Given the description of an element on the screen output the (x, y) to click on. 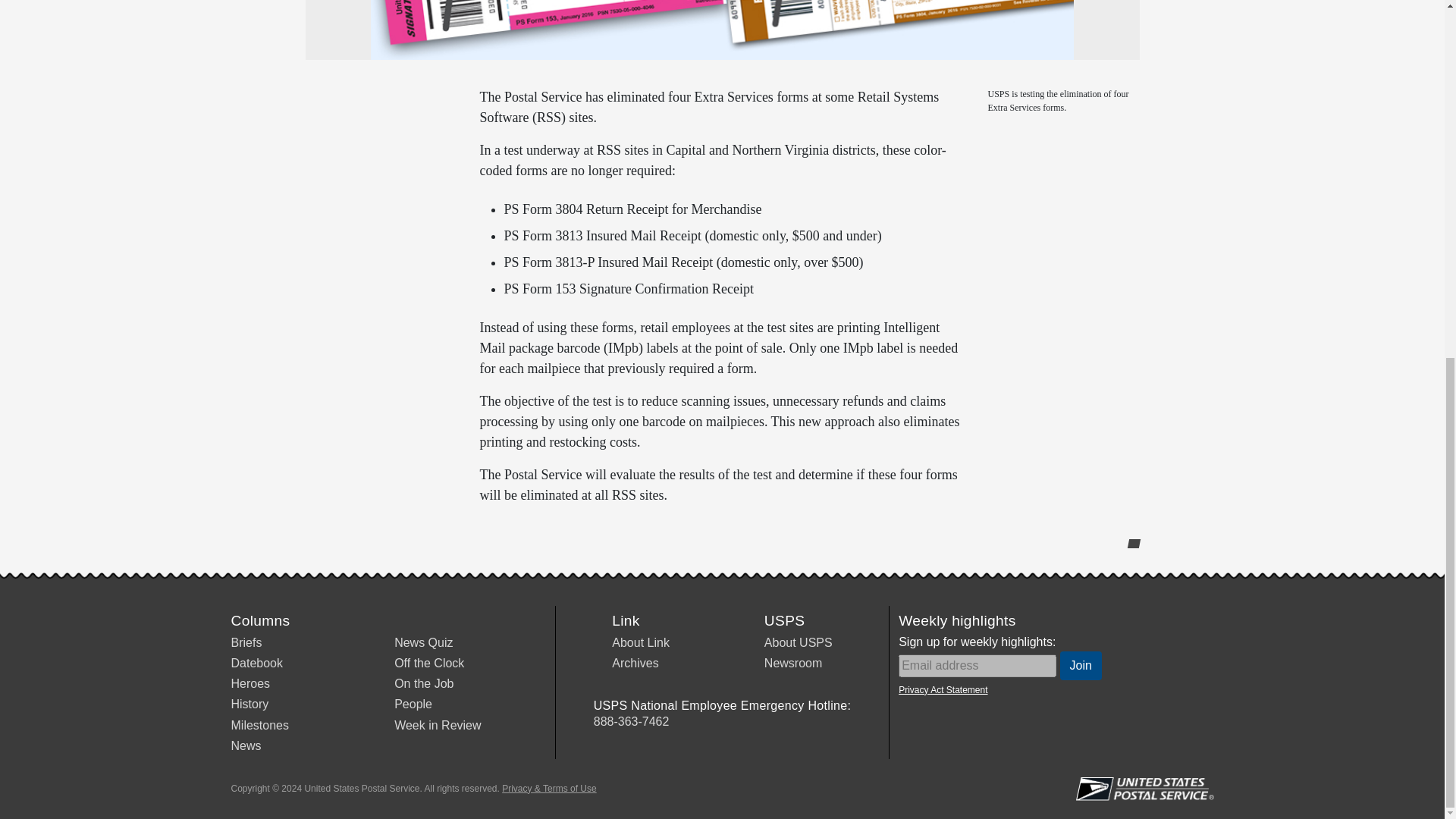
News Quiz (423, 642)
About Link (640, 642)
Heroes (249, 683)
News (245, 745)
On the Job (423, 683)
Join (1080, 665)
People (413, 703)
Archives (634, 662)
About USPS (798, 642)
Briefs (246, 642)
